Given the description of an element on the screen output the (x, y) to click on. 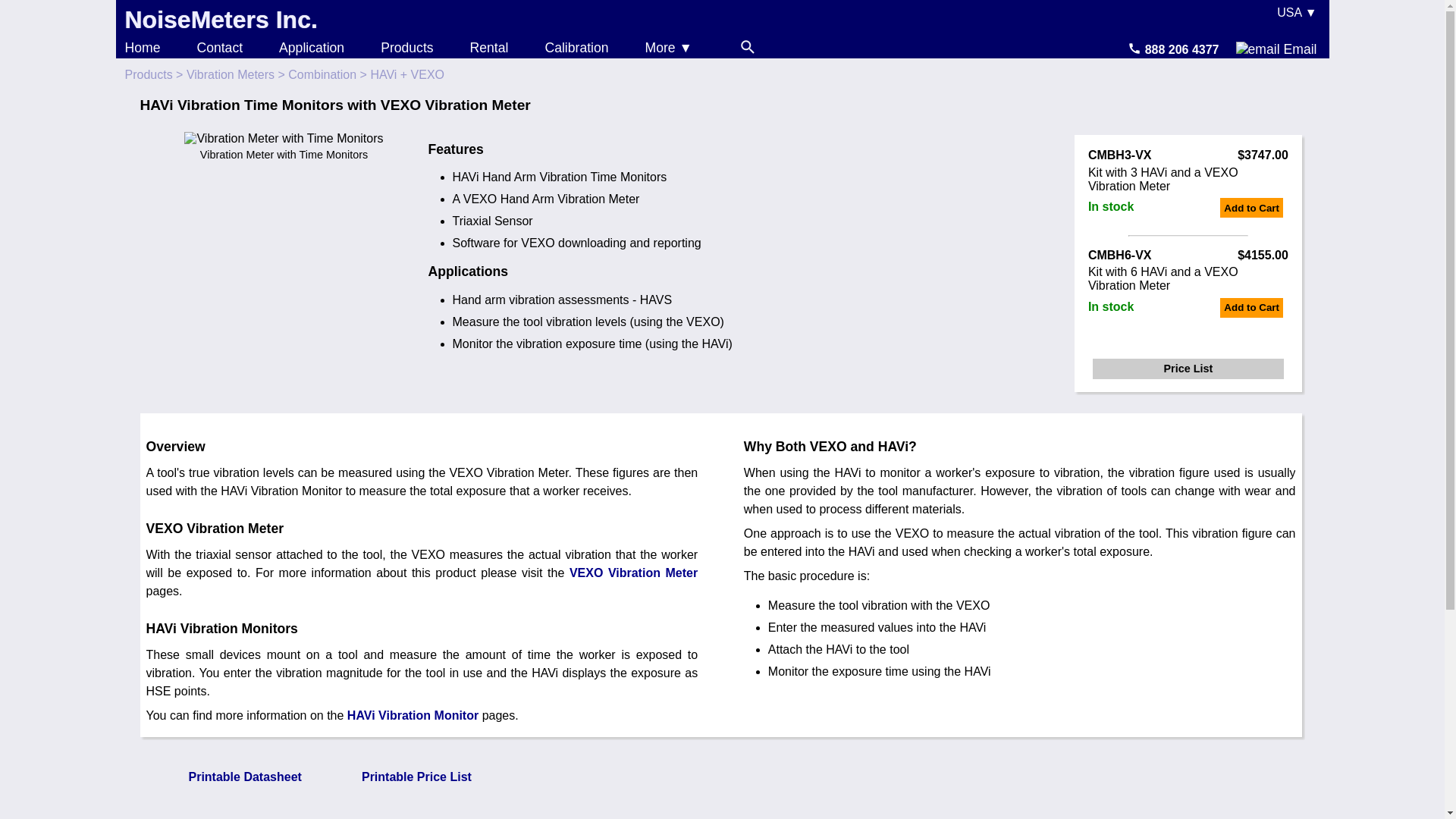
Products (147, 74)
Application (311, 47)
Vibration Meters (230, 74)
NoiseMeters Inc. (220, 19)
Combination (322, 74)
Search (747, 47)
Contact (219, 47)
Printable Datasheet (223, 776)
Calibration (576, 47)
VEXO Vibration Meter (633, 572)
Home (141, 47)
Products (406, 47)
Printable Price List (398, 776)
HAVi Vibration Monitor (413, 715)
Rental (489, 47)
